Given the description of an element on the screen output the (x, y) to click on. 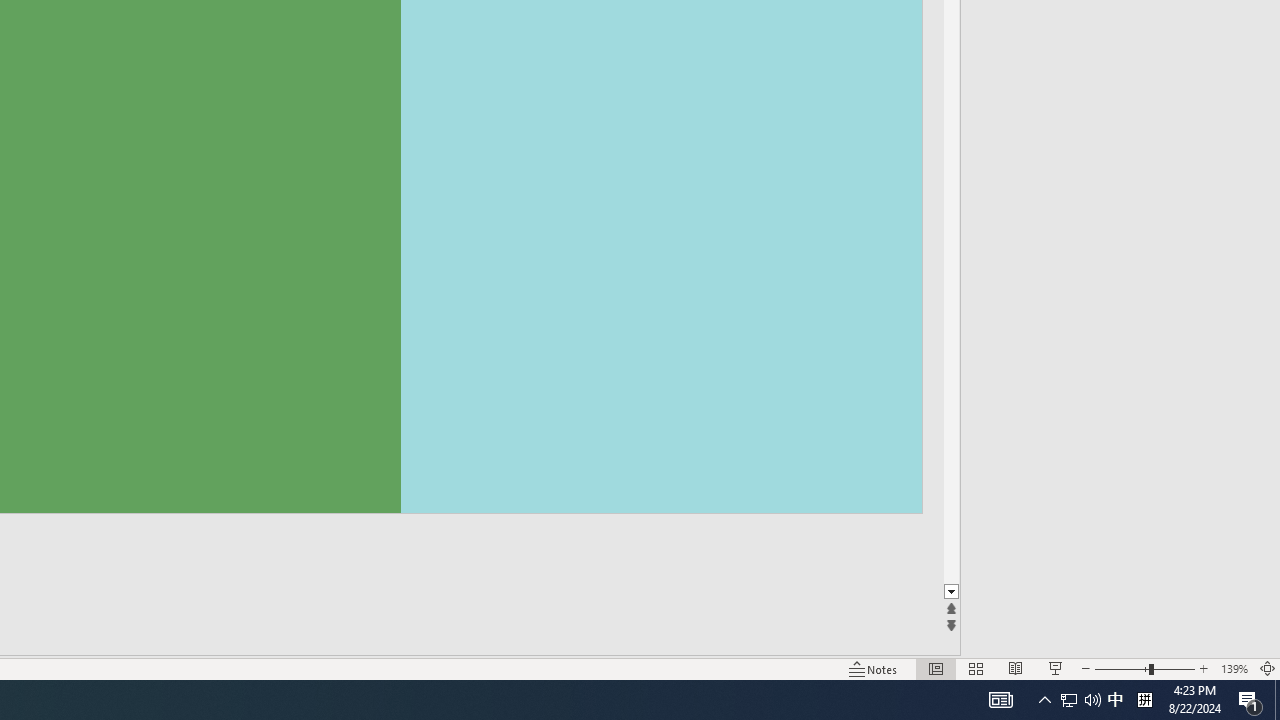
Zoom 139% (1234, 668)
